Given the description of an element on the screen output the (x, y) to click on. 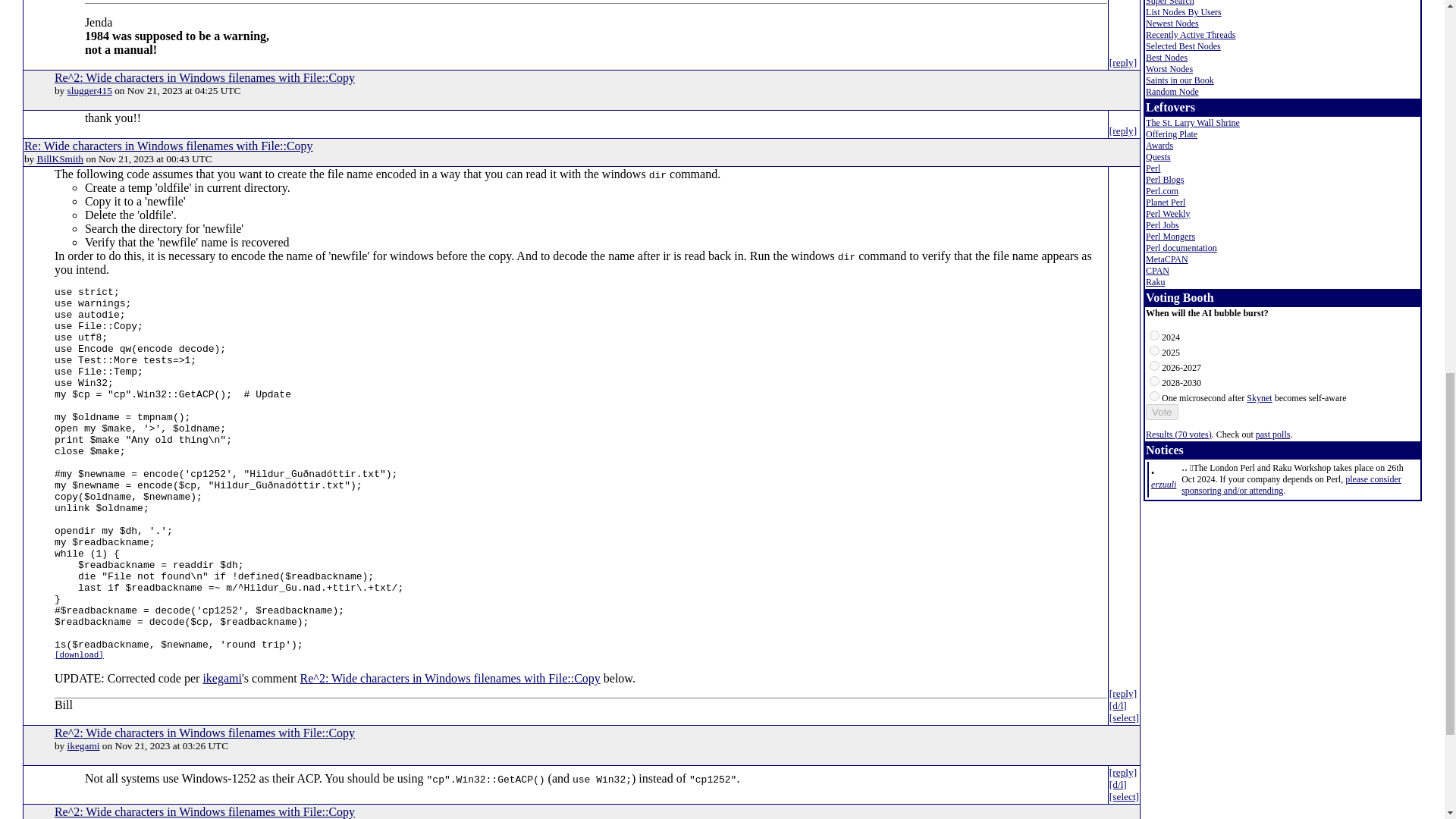
Vote (1161, 412)
0 (1154, 335)
4 (1154, 396)
2 (1154, 366)
2024-05-30 14:23:36 (1163, 484)
1 (1154, 350)
3 (1154, 380)
